Given the description of an element on the screen output the (x, y) to click on. 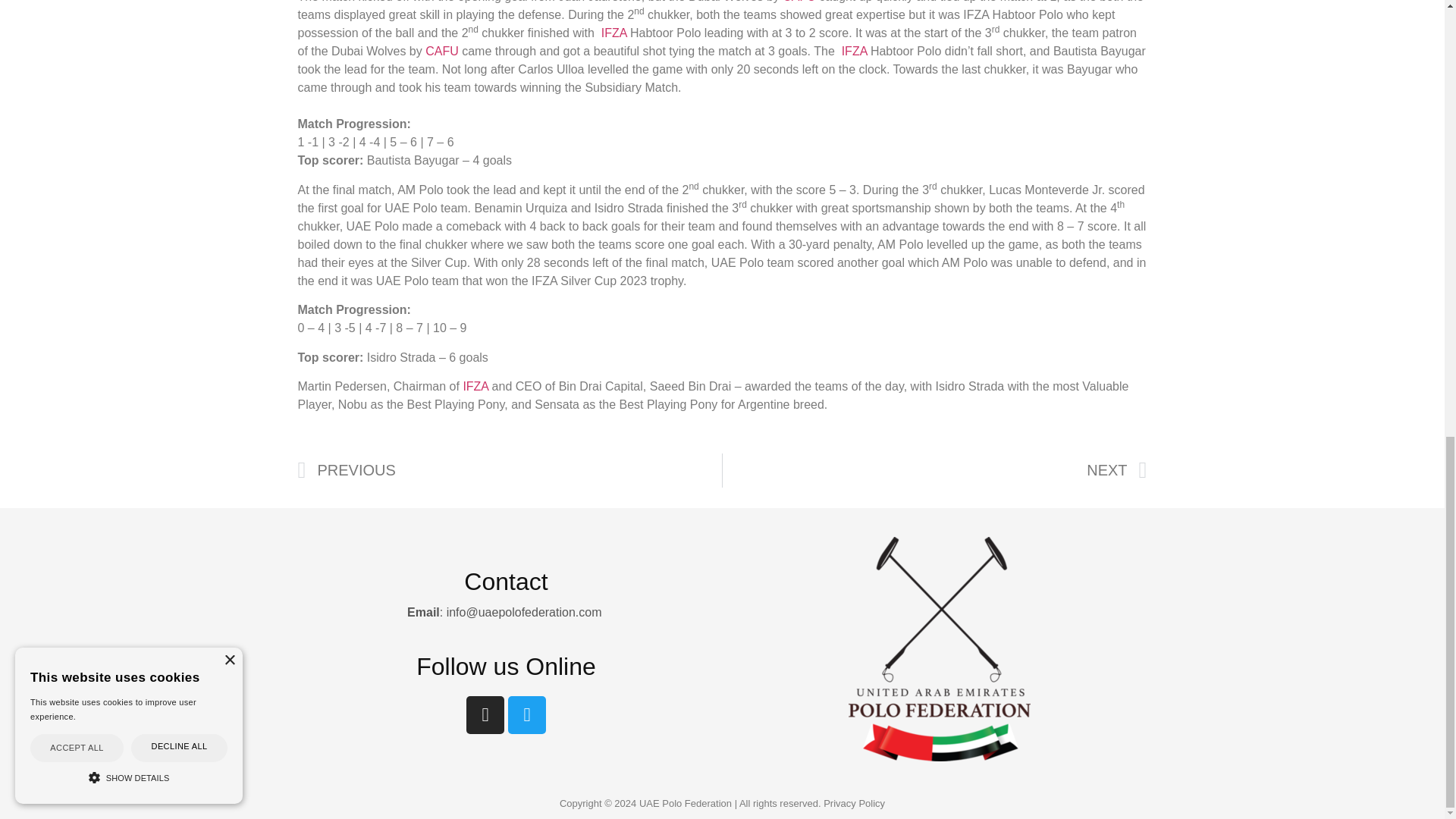
IFZA (854, 51)
NEXT (934, 470)
IFZA (614, 32)
IFZA  (477, 386)
PREVIOUS (509, 470)
CAFU (799, 1)
CAFU (441, 51)
